Given the description of an element on the screen output the (x, y) to click on. 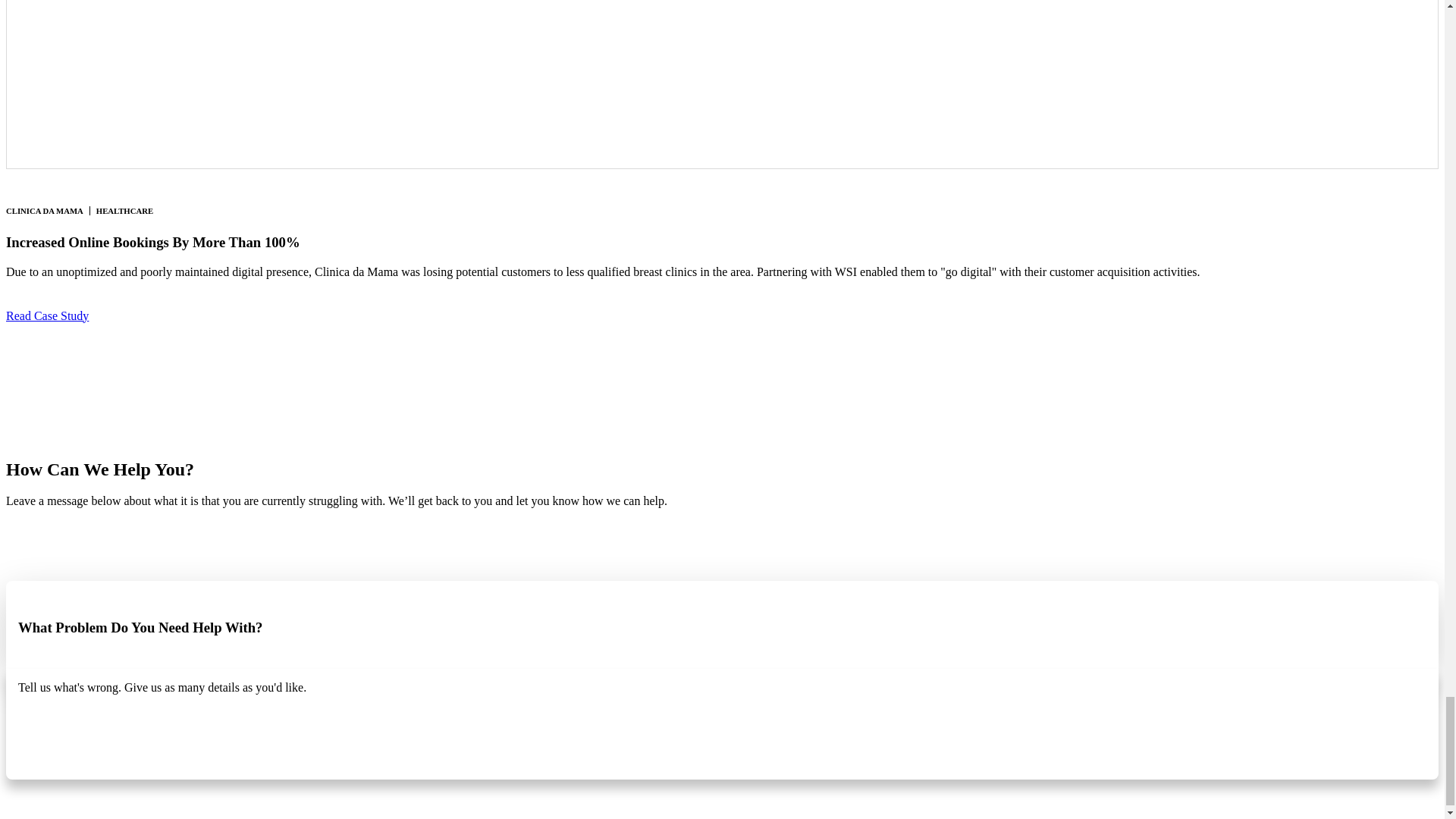
Read Case Study (46, 315)
